Given the description of an element on the screen output the (x, y) to click on. 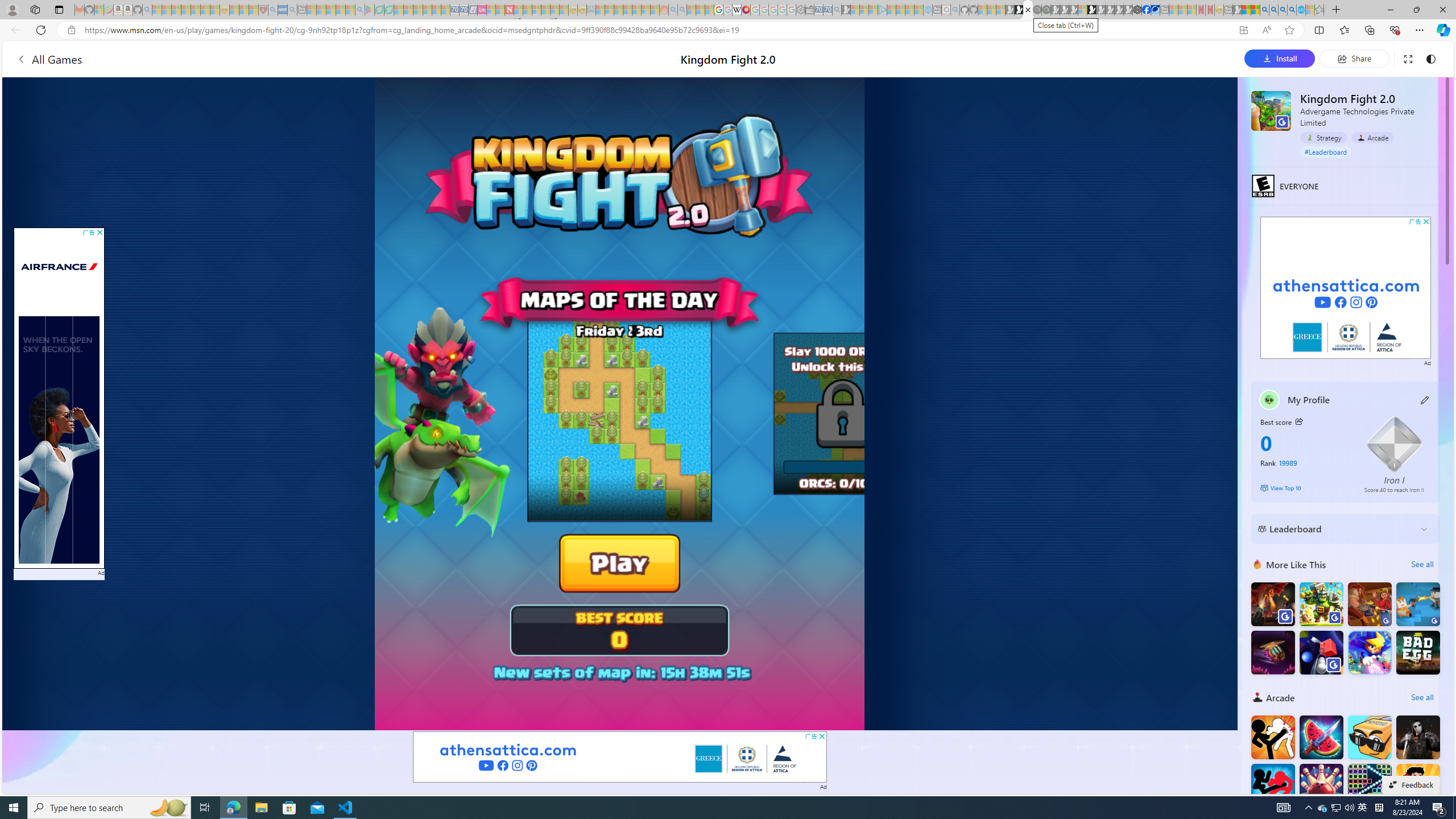
Heli Dash (1273, 652)
Stickman Fighter : Mega Brawl (1273, 737)
Full screen (1407, 58)
The Weather Channel - MSN - Sleeping (175, 9)
Bing AI - Search (1264, 9)
github - Search - Sleeping (954, 9)
Cubes2048 (1369, 737)
